Given the description of an element on the screen output the (x, y) to click on. 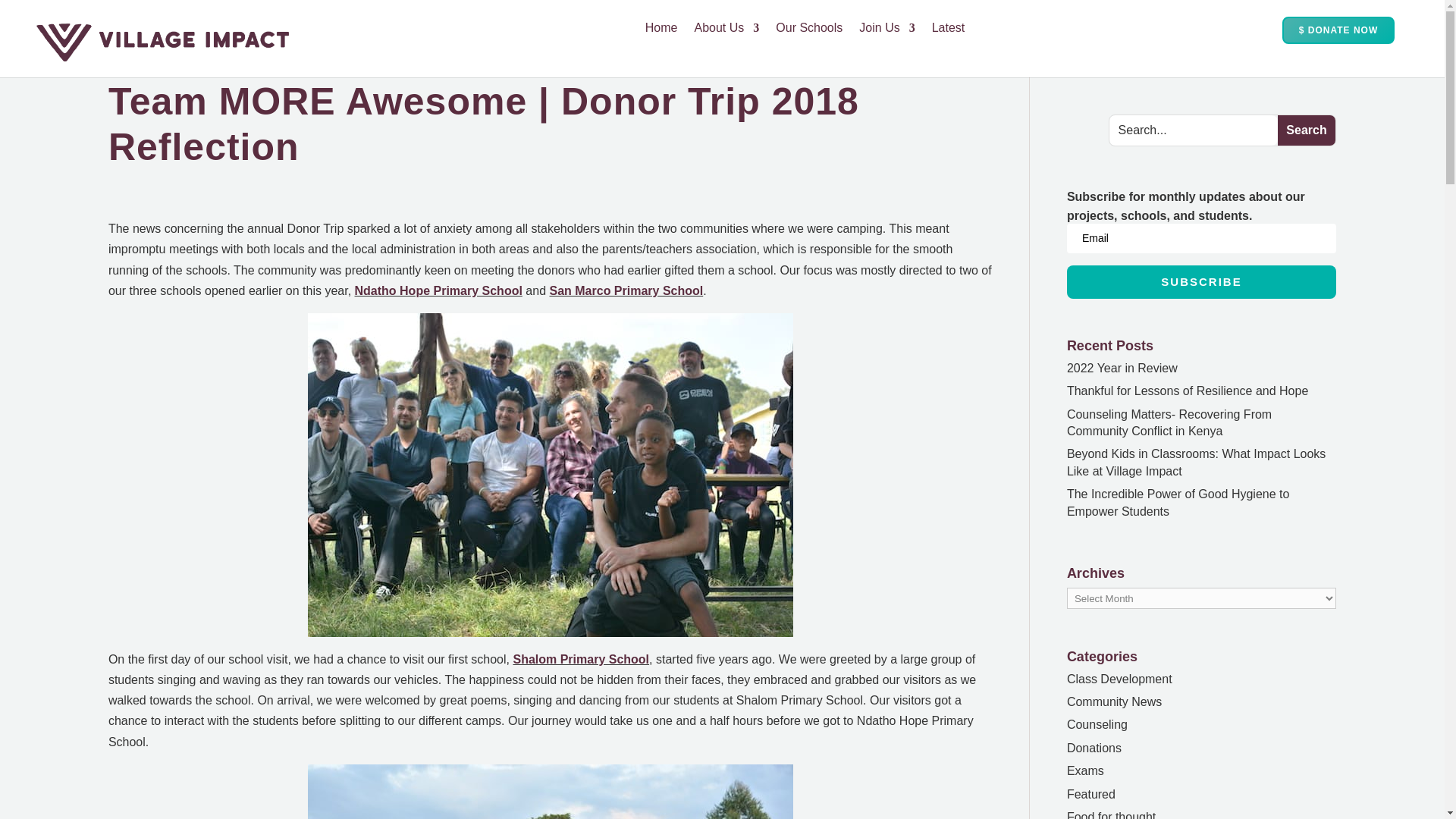
Home (661, 30)
Latest (948, 30)
Our Schools (809, 30)
Join Us (886, 30)
About Us (726, 30)
Search (1306, 130)
Search (1306, 130)
logo-med-transparent (162, 42)
